Given the description of an element on the screen output the (x, y) to click on. 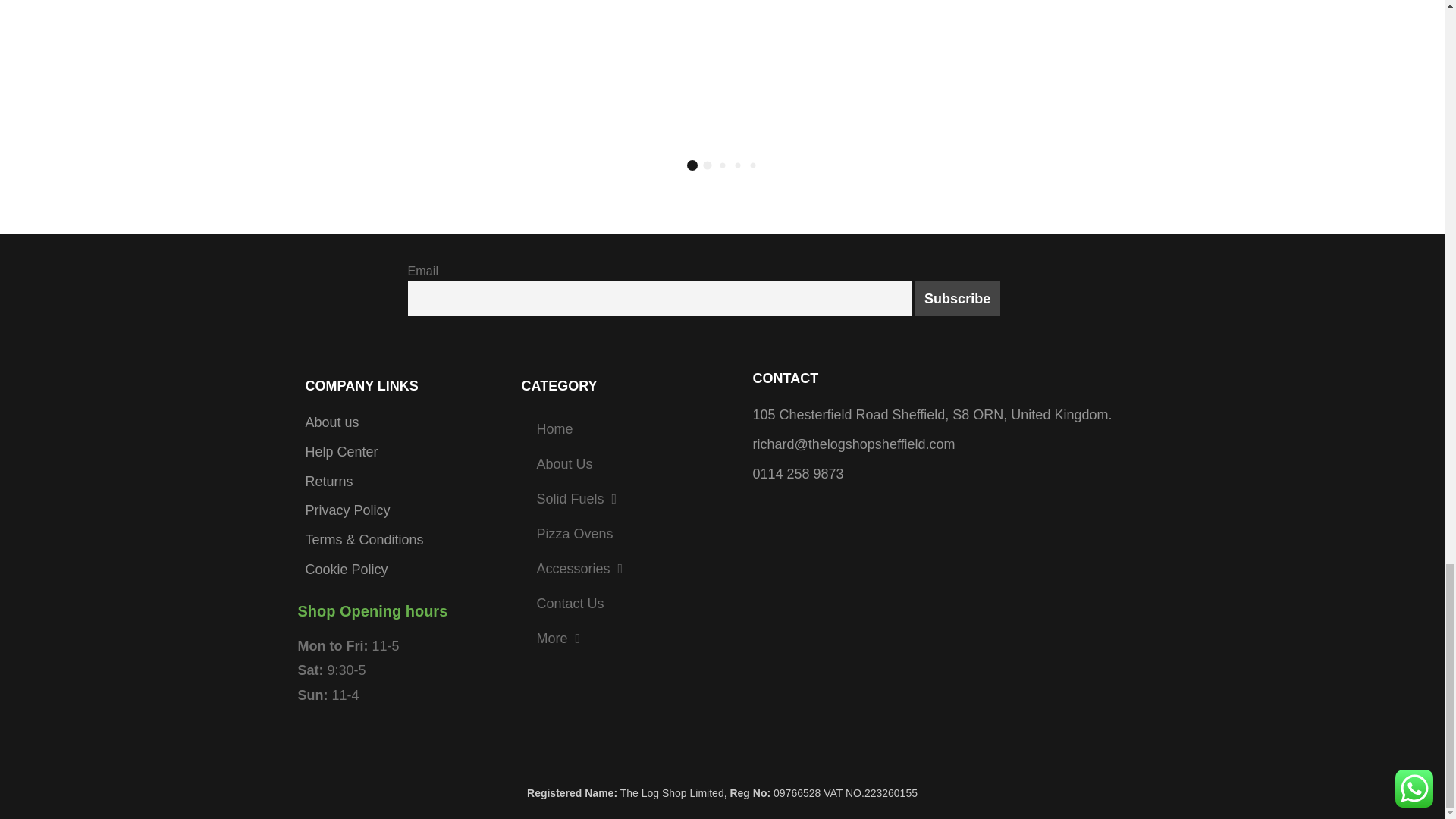
Subscribe (957, 298)
